Given the description of an element on the screen output the (x, y) to click on. 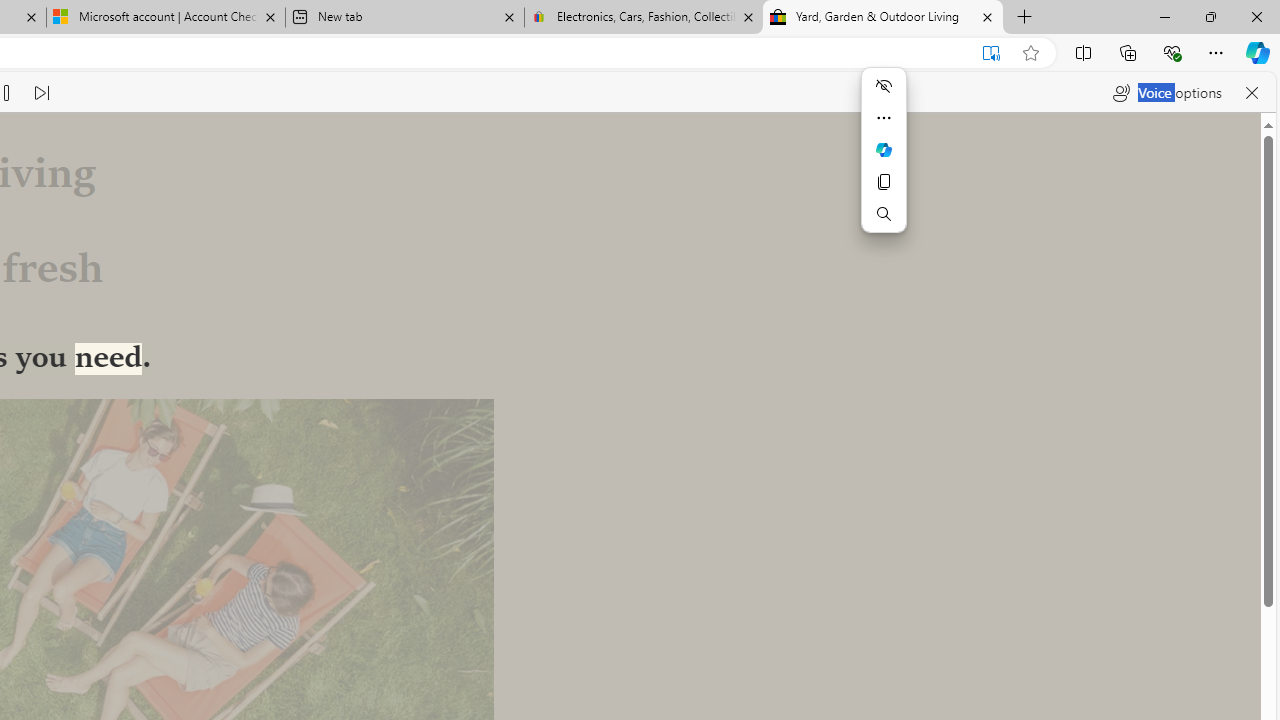
Microsoft account | Account Checkup (166, 17)
Read next paragraph (41, 92)
Mini menu on text selection (883, 149)
Copy (883, 182)
Mini menu on text selection (883, 161)
Yard, Garden & Outdoor Living (883, 17)
